Given the description of an element on the screen output the (x, y) to click on. 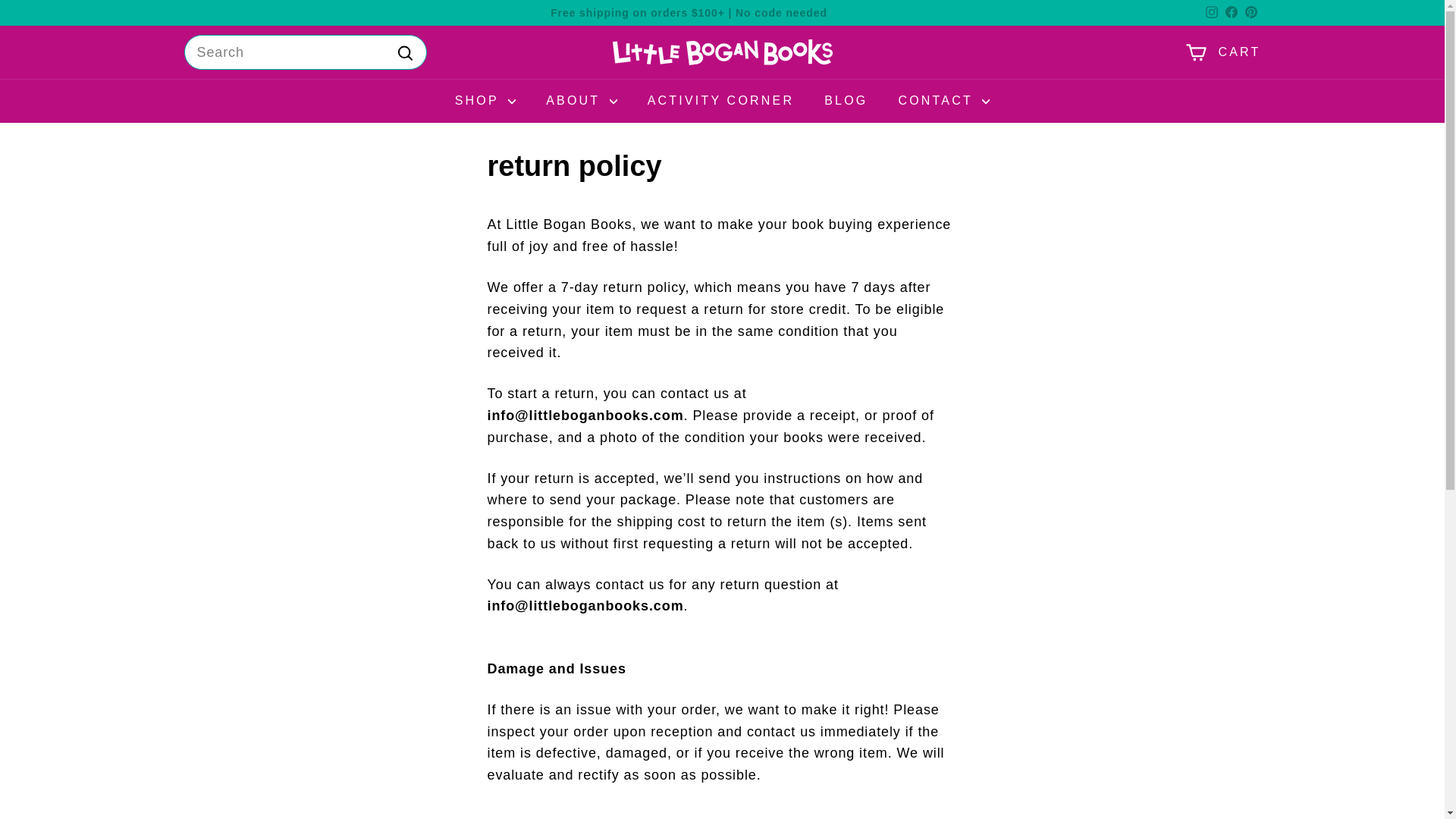
instagram (1211, 11)
CART (1222, 51)
ACTIVITY CORNER (720, 100)
BLOG (845, 100)
